Given the description of an element on the screen output the (x, y) to click on. 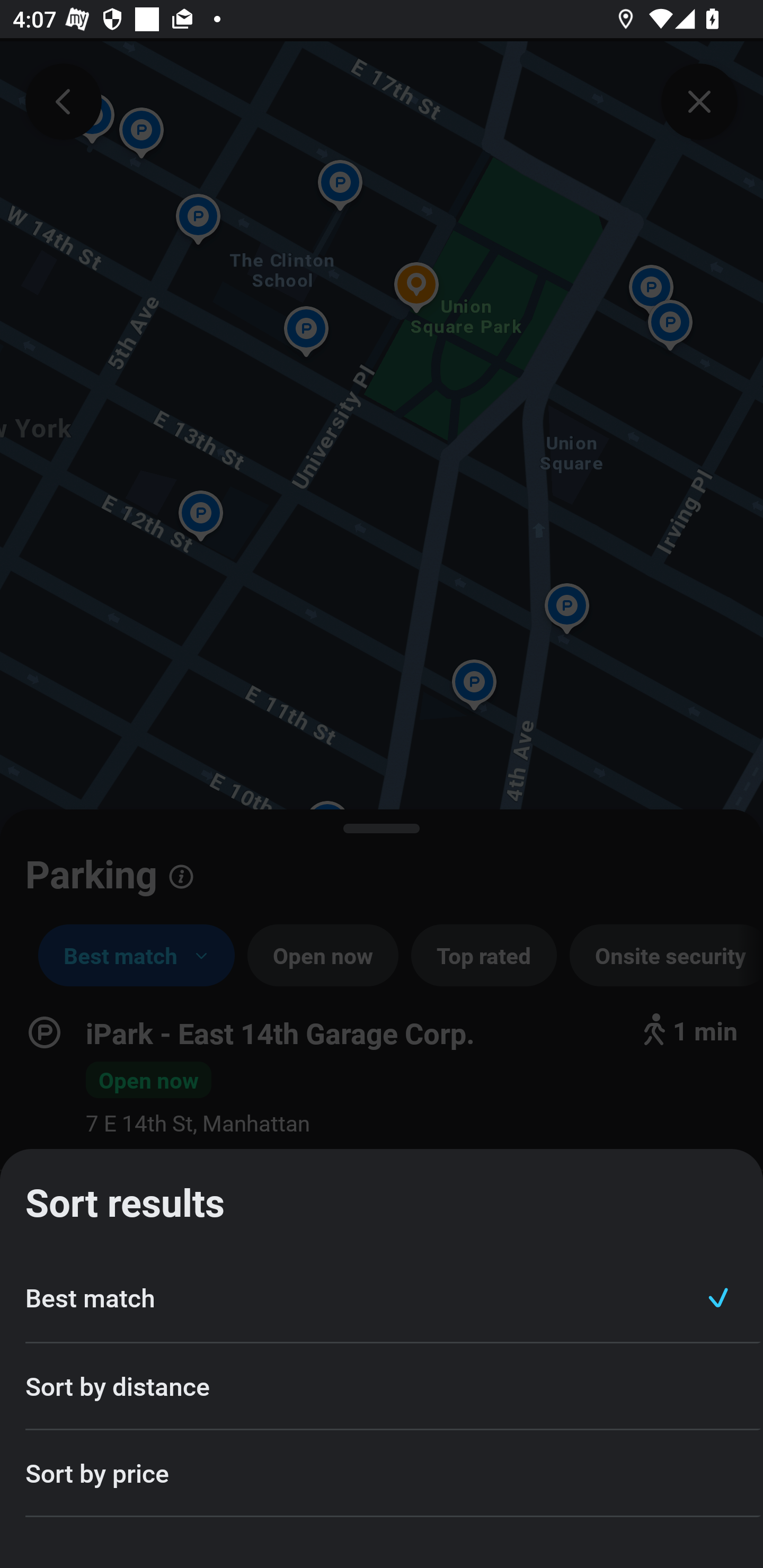
Best match ACTION_CELL_TEXT (381, 1297)
Sort by distance ACTION_CELL_TEXT (381, 1386)
Sort by price ACTION_CELL_TEXT (381, 1473)
